Given the description of an element on the screen output the (x, y) to click on. 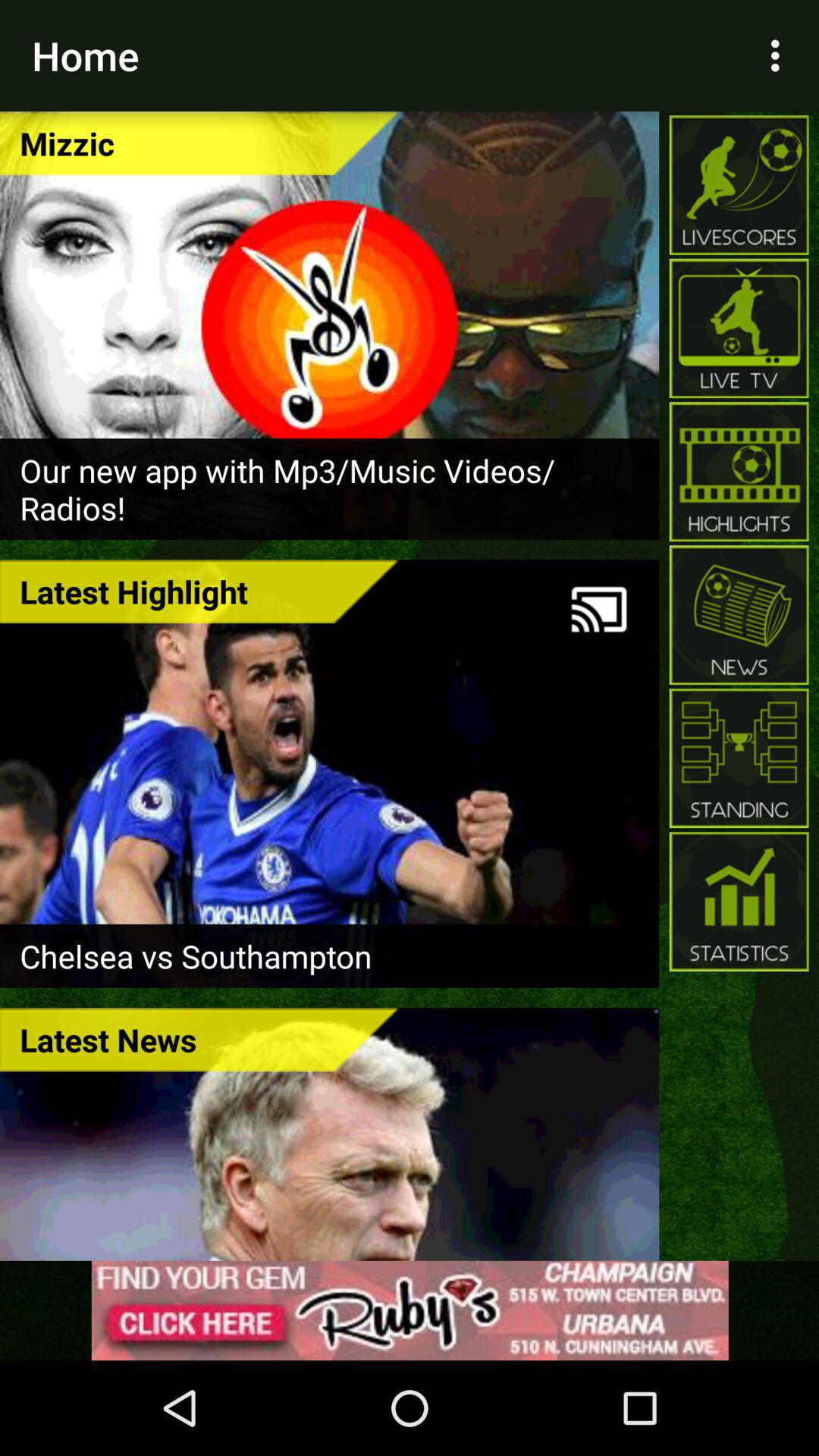
tap the chelsea vs southampton item (329, 955)
